Given the description of an element on the screen output the (x, y) to click on. 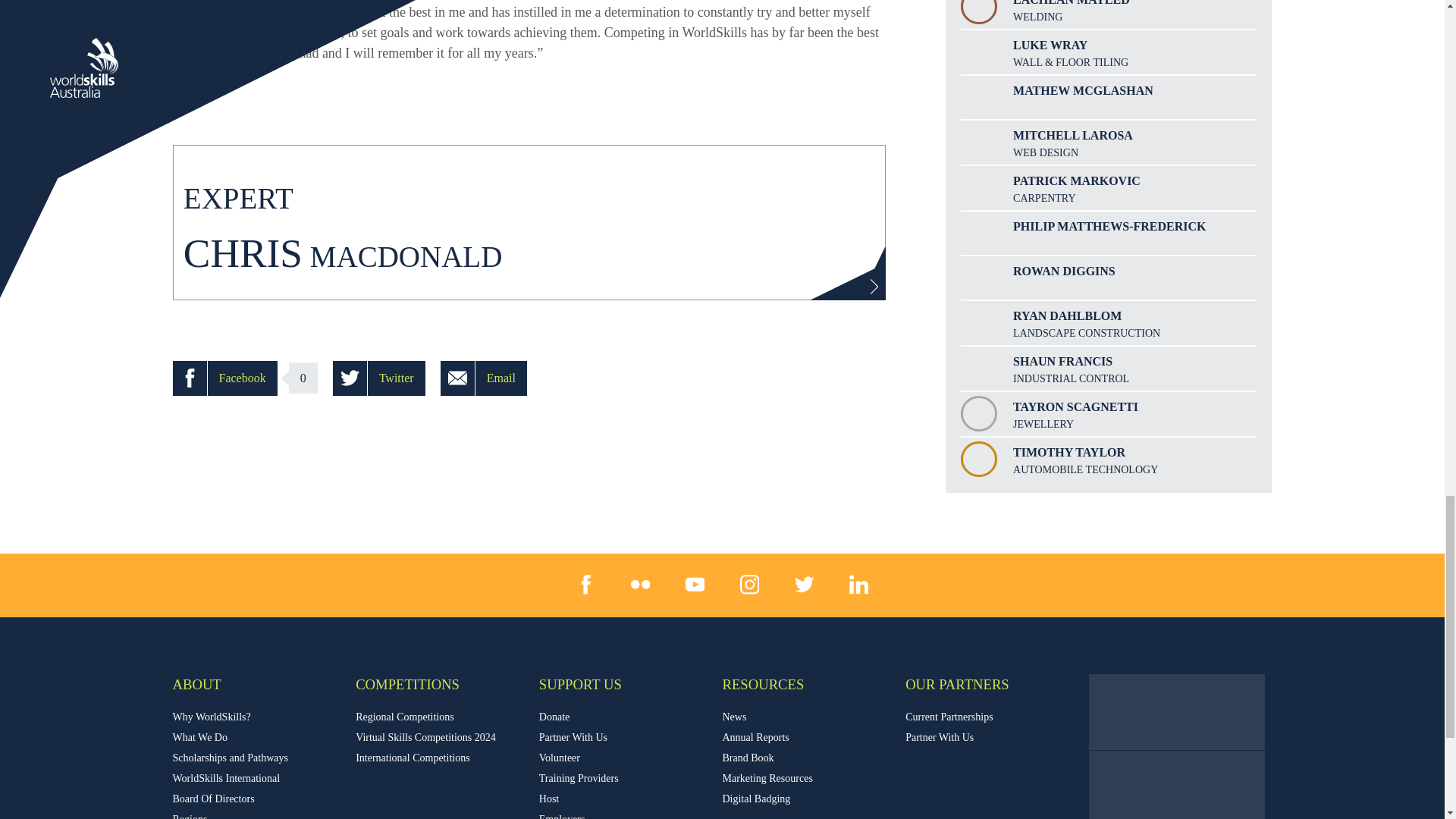
Share by Facebook (225, 378)
Share by Twitter (379, 378)
Share by Email (484, 378)
